Given the description of an element on the screen output the (x, y) to click on. 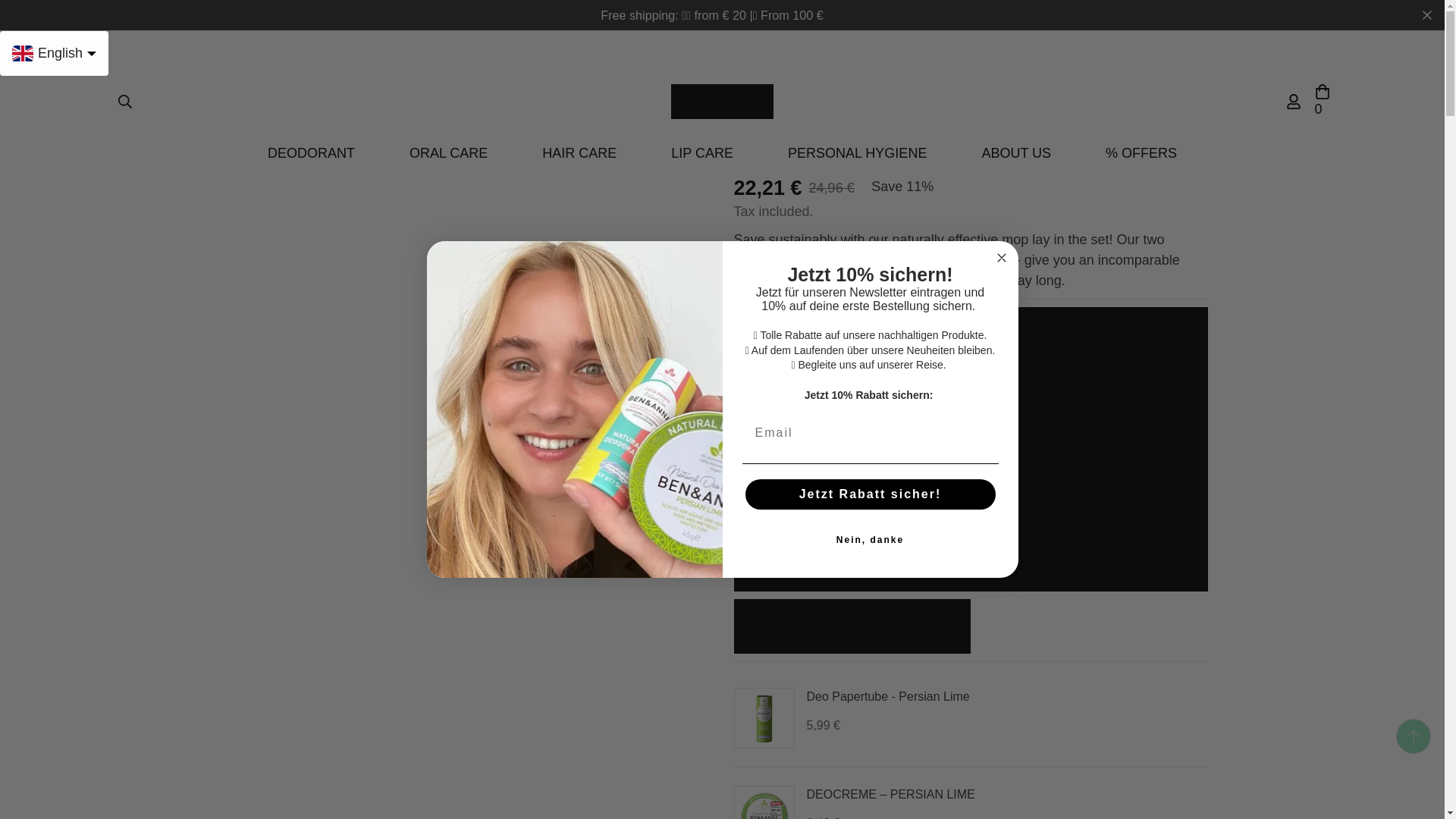
ABOUT US (1015, 153)
0 (1321, 101)
LIP CARE (701, 153)
ORAL CARE (448, 153)
HAIR CARE (579, 153)
PERSONAL HYGIENE (856, 153)
DEODORANT (310, 153)
Back to the home page (242, 97)
